Given the description of an element on the screen output the (x, y) to click on. 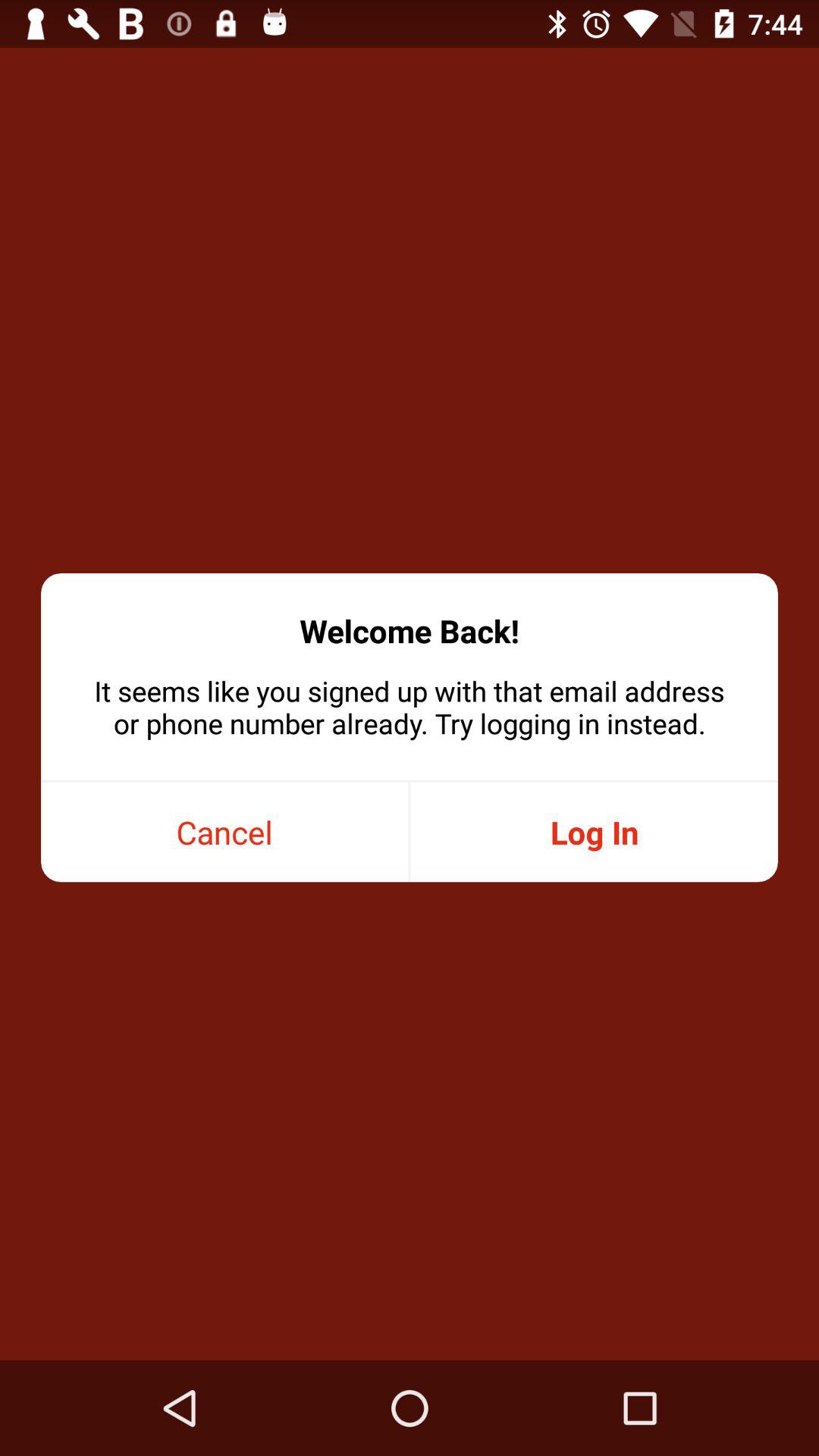
launch the item on the right (594, 832)
